Given the description of an element on the screen output the (x, y) to click on. 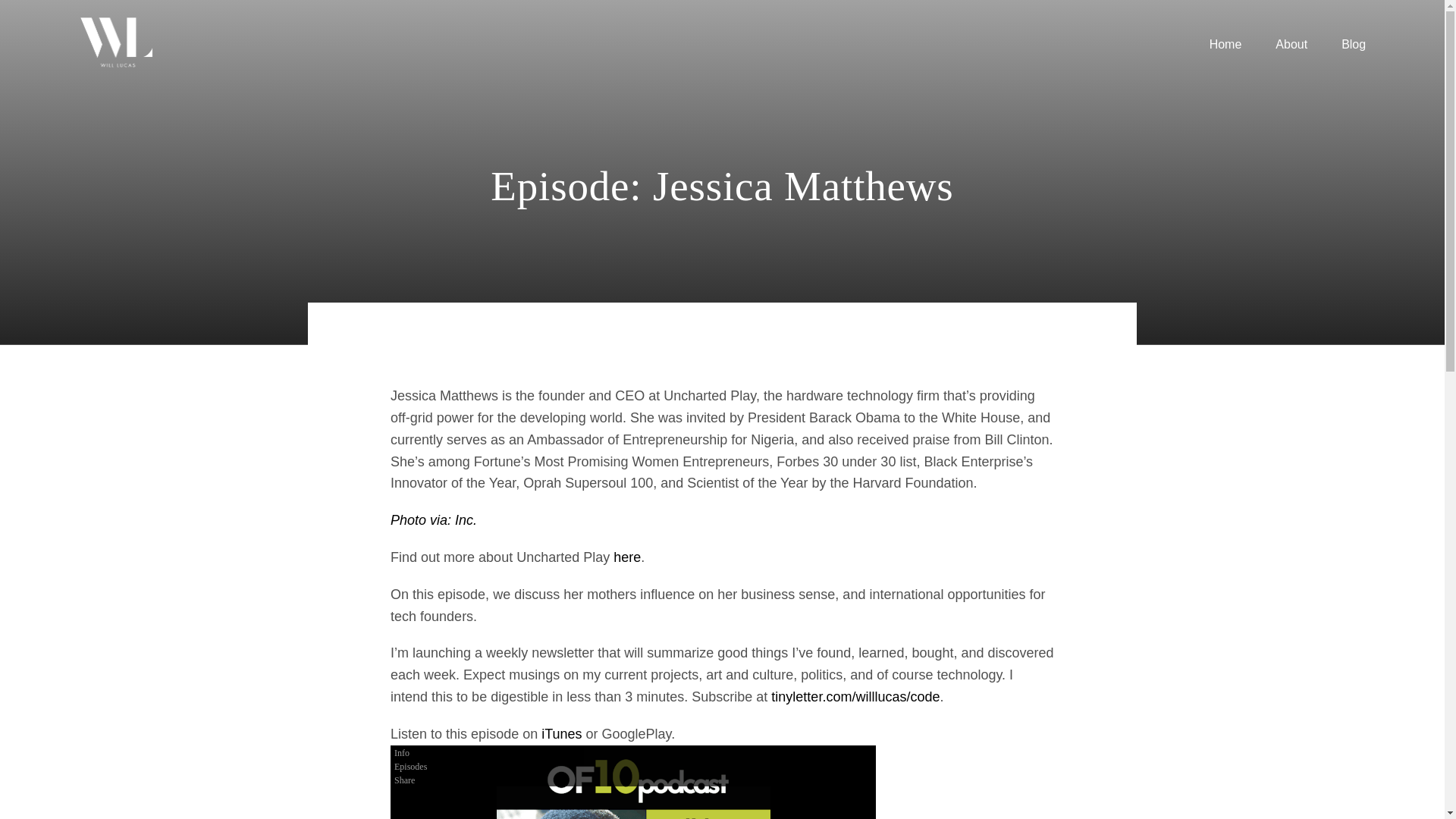
iTunes (560, 734)
Photo via: Inc. (433, 519)
here (626, 557)
